Given the description of an element on the screen output the (x, y) to click on. 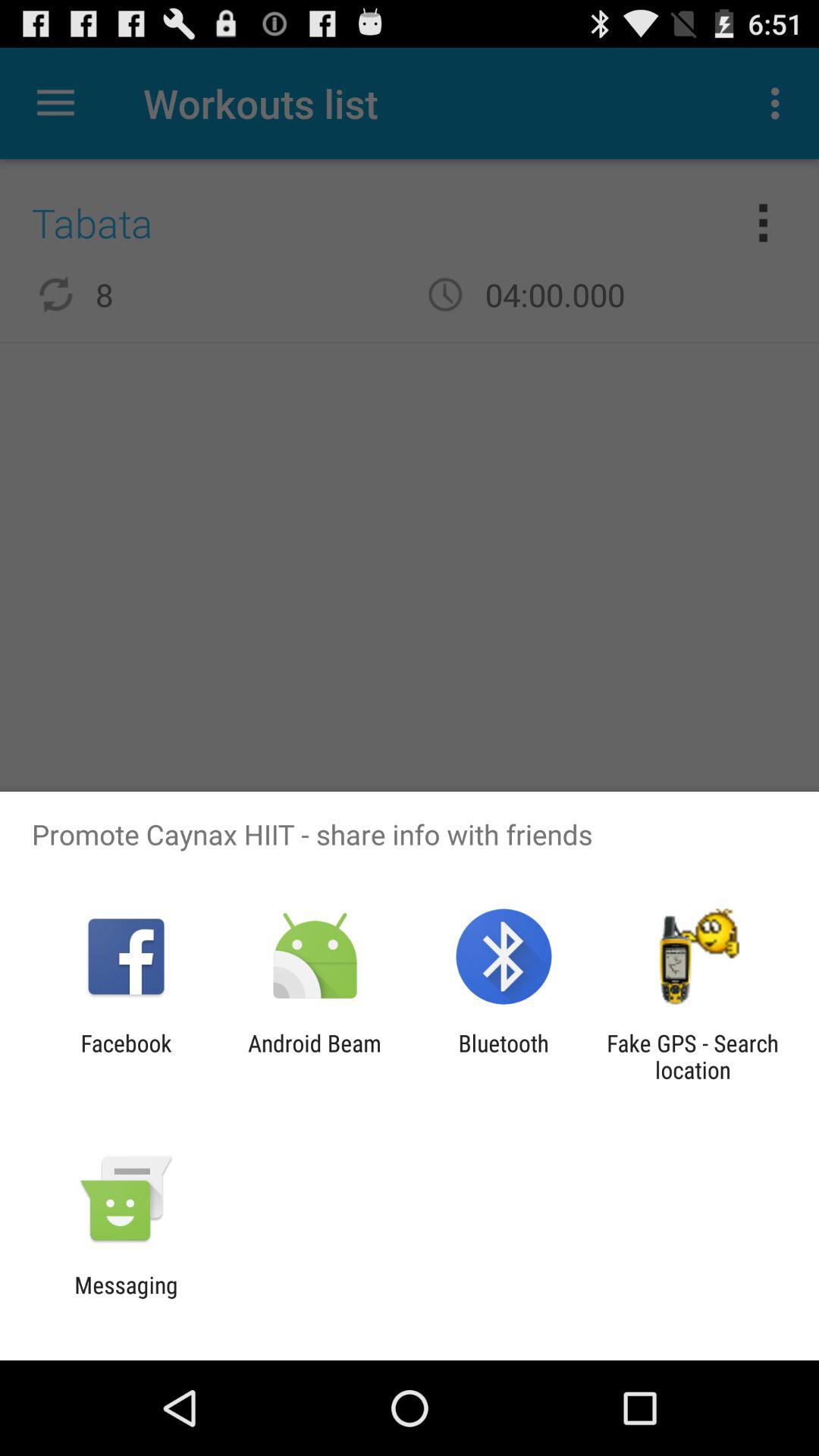
turn on the item to the right of the android beam icon (503, 1056)
